Given the description of an element on the screen output the (x, y) to click on. 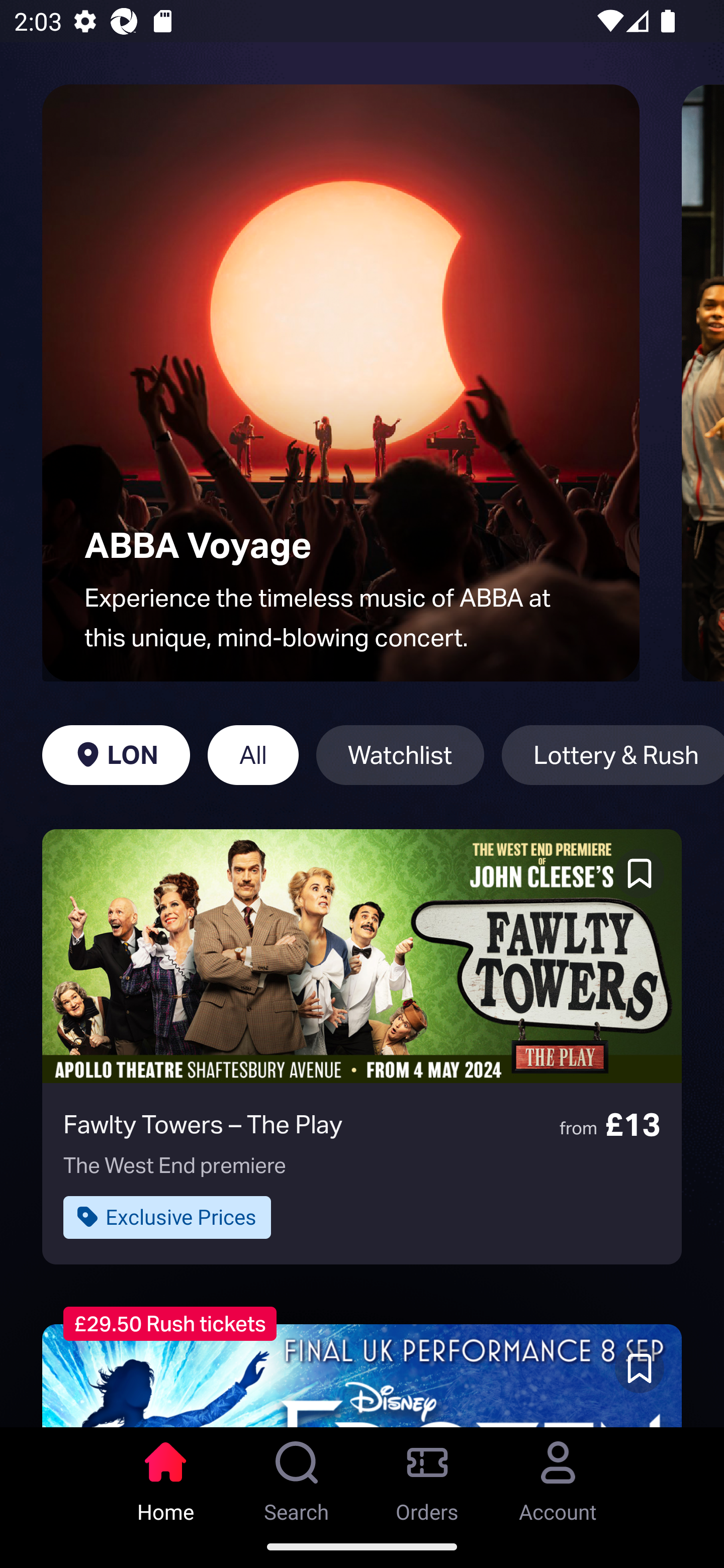
LON (115, 754)
All (252, 754)
Watchlist (400, 754)
Lottery & Rush (612, 754)
Search (296, 1475)
Orders (427, 1475)
Account (558, 1475)
